Given the description of an element on the screen output the (x, y) to click on. 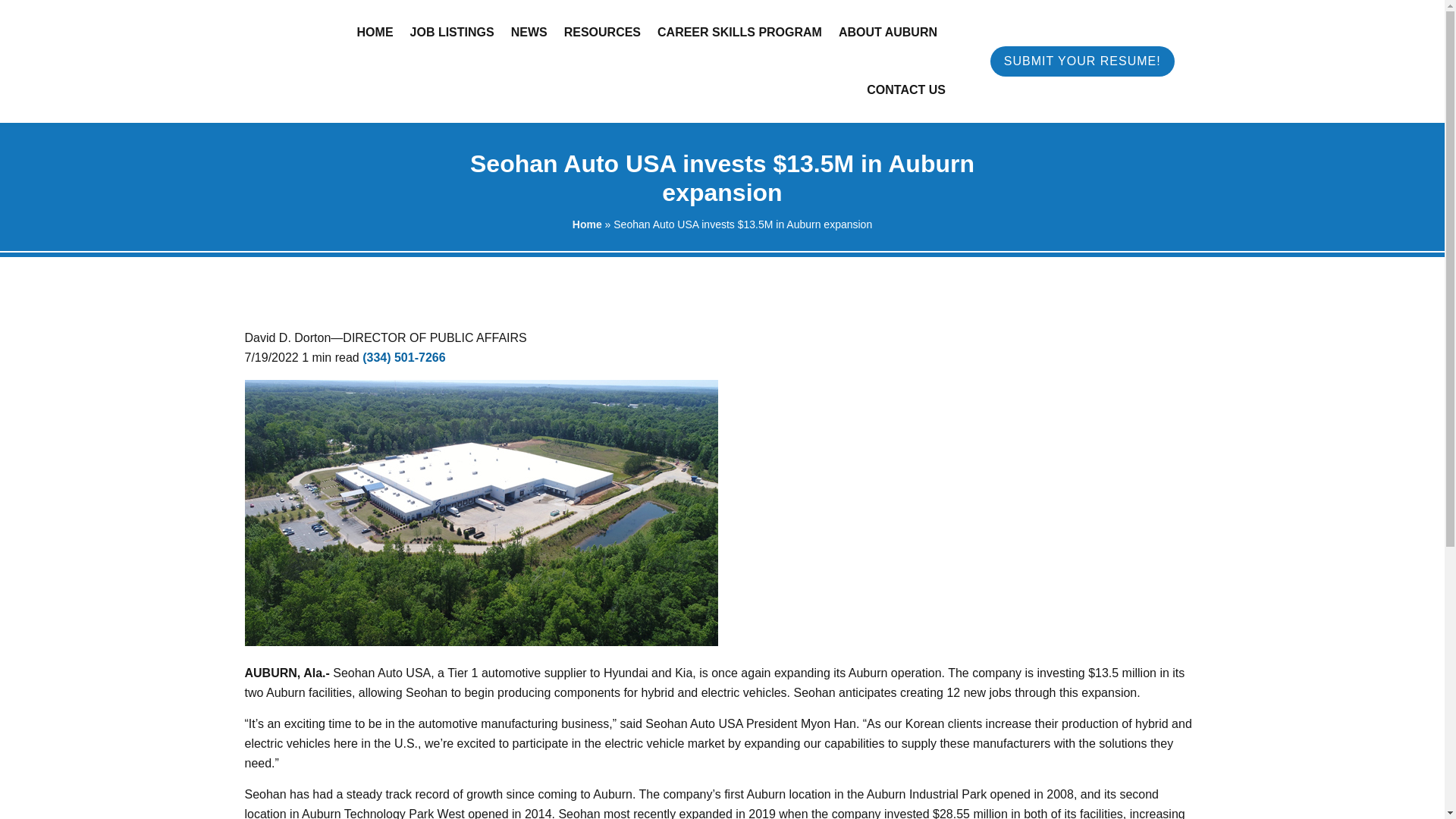
RESOURCES (602, 32)
CONTACT US (905, 89)
CAREER SKILLS PROGRAM (740, 32)
SUBMIT YOUR RESUME! (1082, 60)
Home (587, 224)
ABOUT AUBURN (887, 32)
JOB LISTINGS (452, 32)
